Given the description of an element on the screen output the (x, y) to click on. 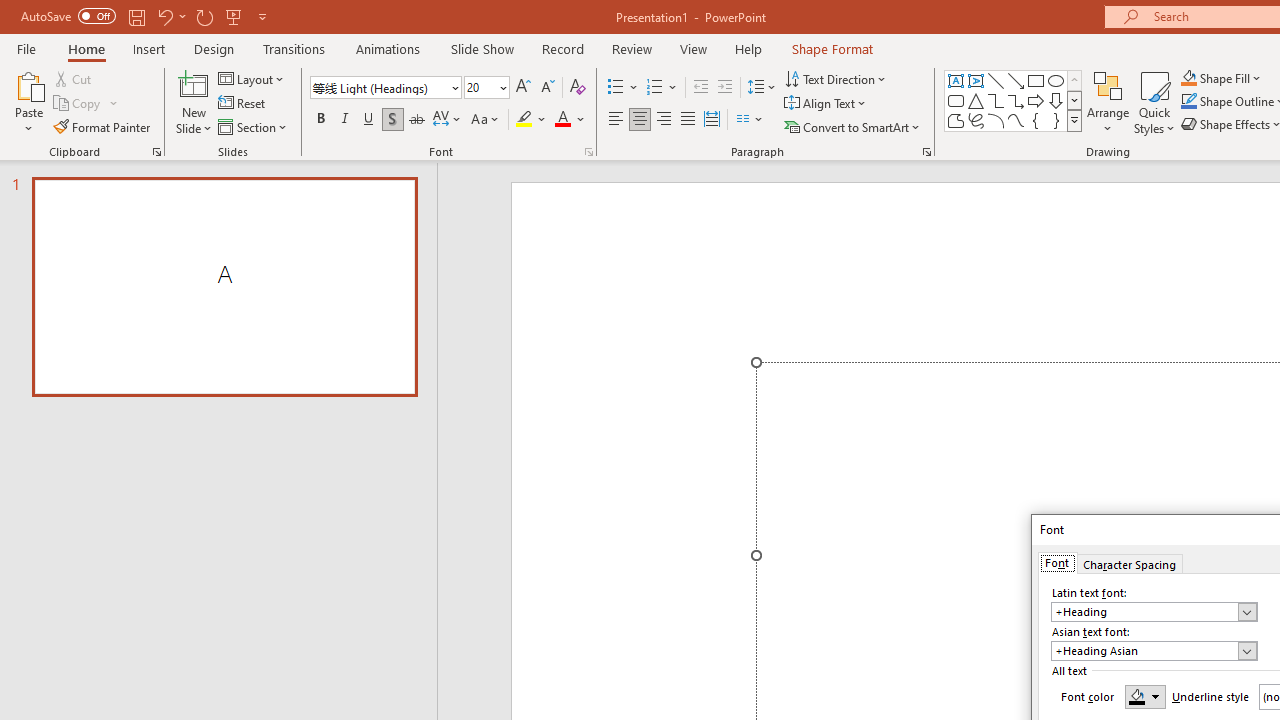
Latin text font (1154, 611)
Font color RGB(0, 0, 0) (1145, 696)
